Given the description of an element on the screen output the (x, y) to click on. 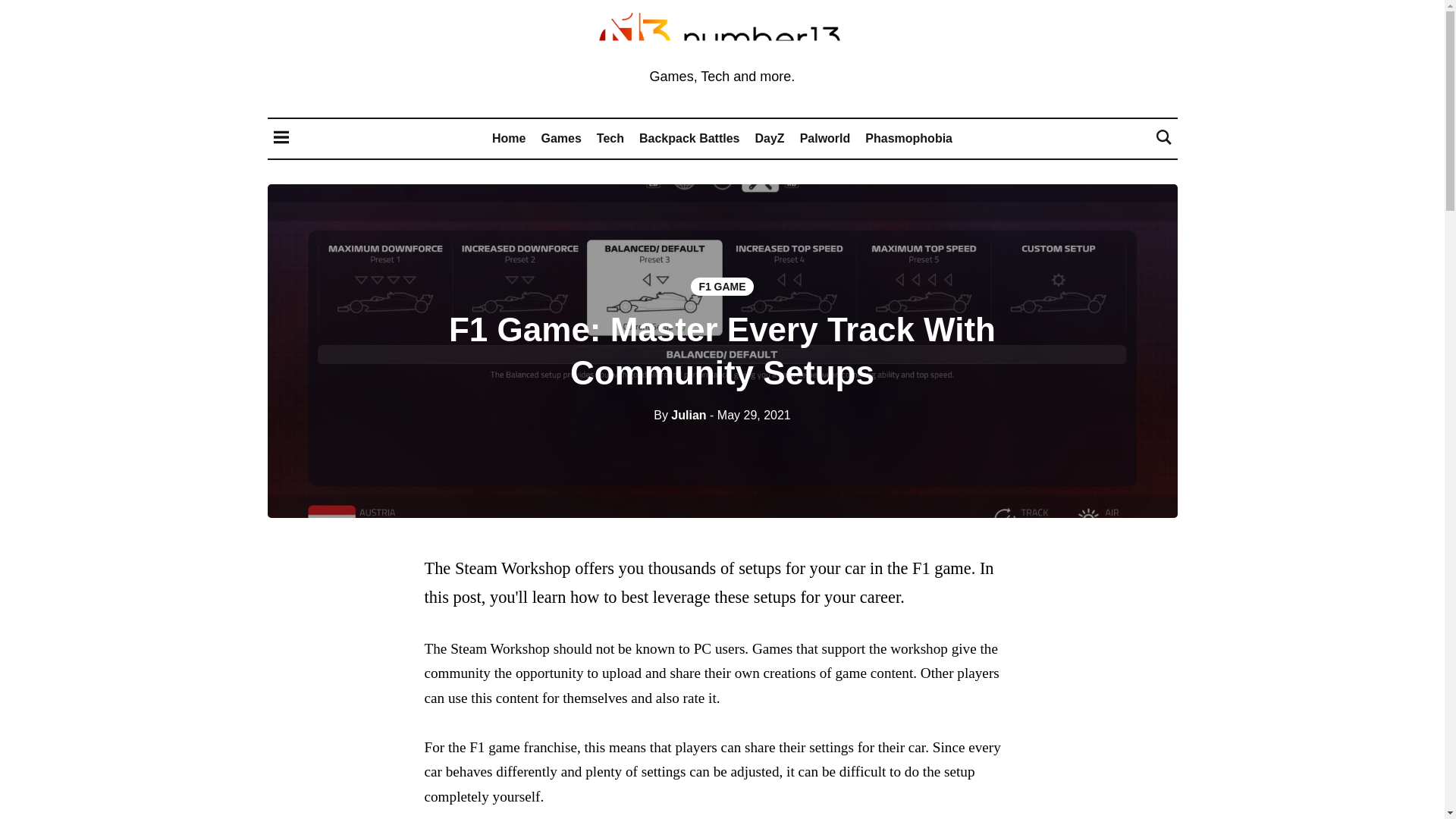
Palworld (824, 137)
29 May, 2021 (750, 414)
Games (560, 137)
Backpack Battles (689, 137)
F1 GAME (721, 286)
Phasmophobia (908, 137)
DayZ (769, 137)
By Julian (679, 414)
Tech (610, 137)
Home (508, 137)
